Given the description of an element on the screen output the (x, y) to click on. 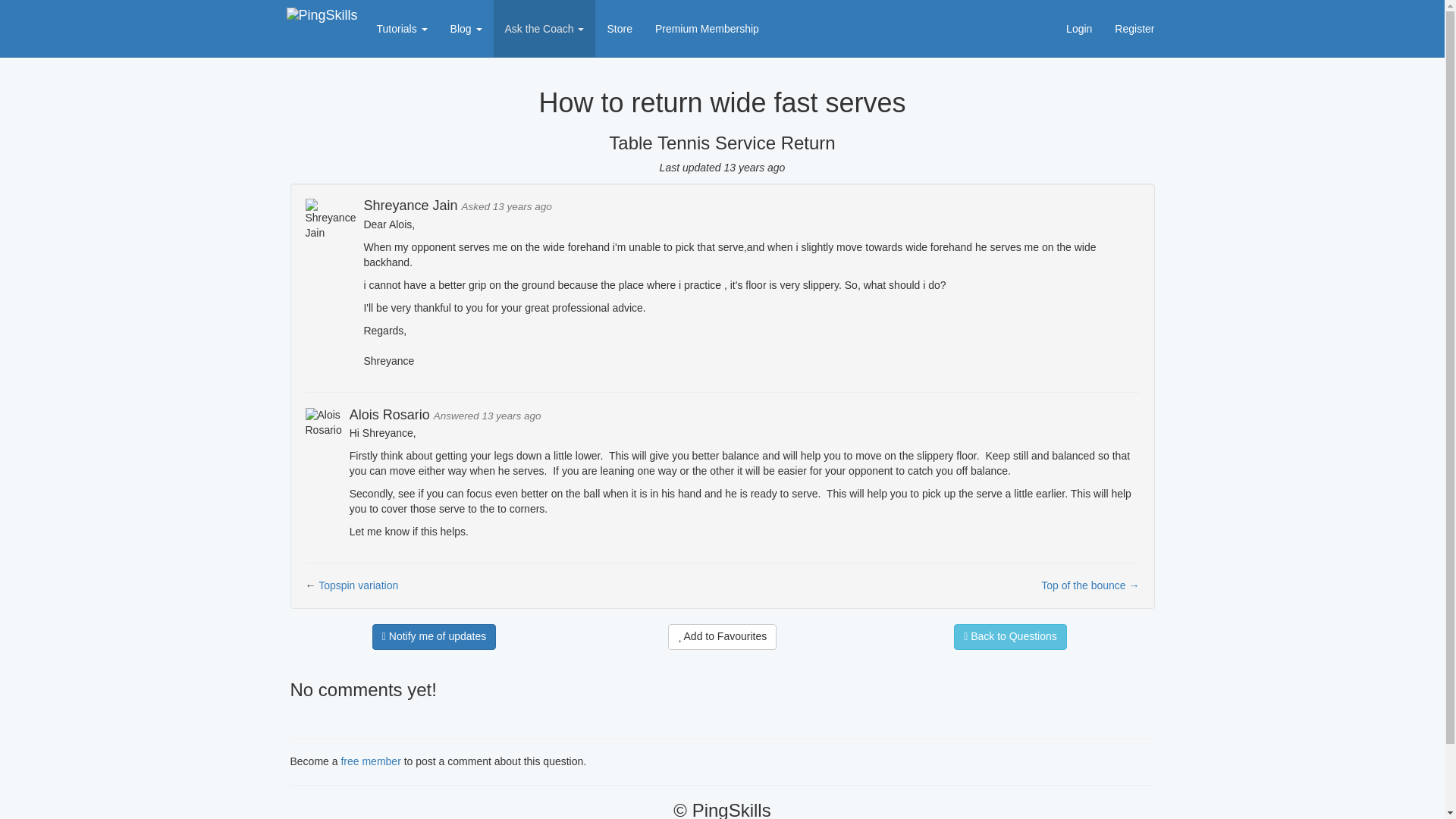
free member (370, 761)
Register (1134, 28)
Ask the Coach (544, 28)
Notify me of updates (434, 637)
Back to Questions (1010, 637)
Premium Membership (706, 28)
Tutorials (402, 28)
Blog (466, 28)
Topspin variation (357, 585)
Add to Favourites (722, 637)
